Given the description of an element on the screen output the (x, y) to click on. 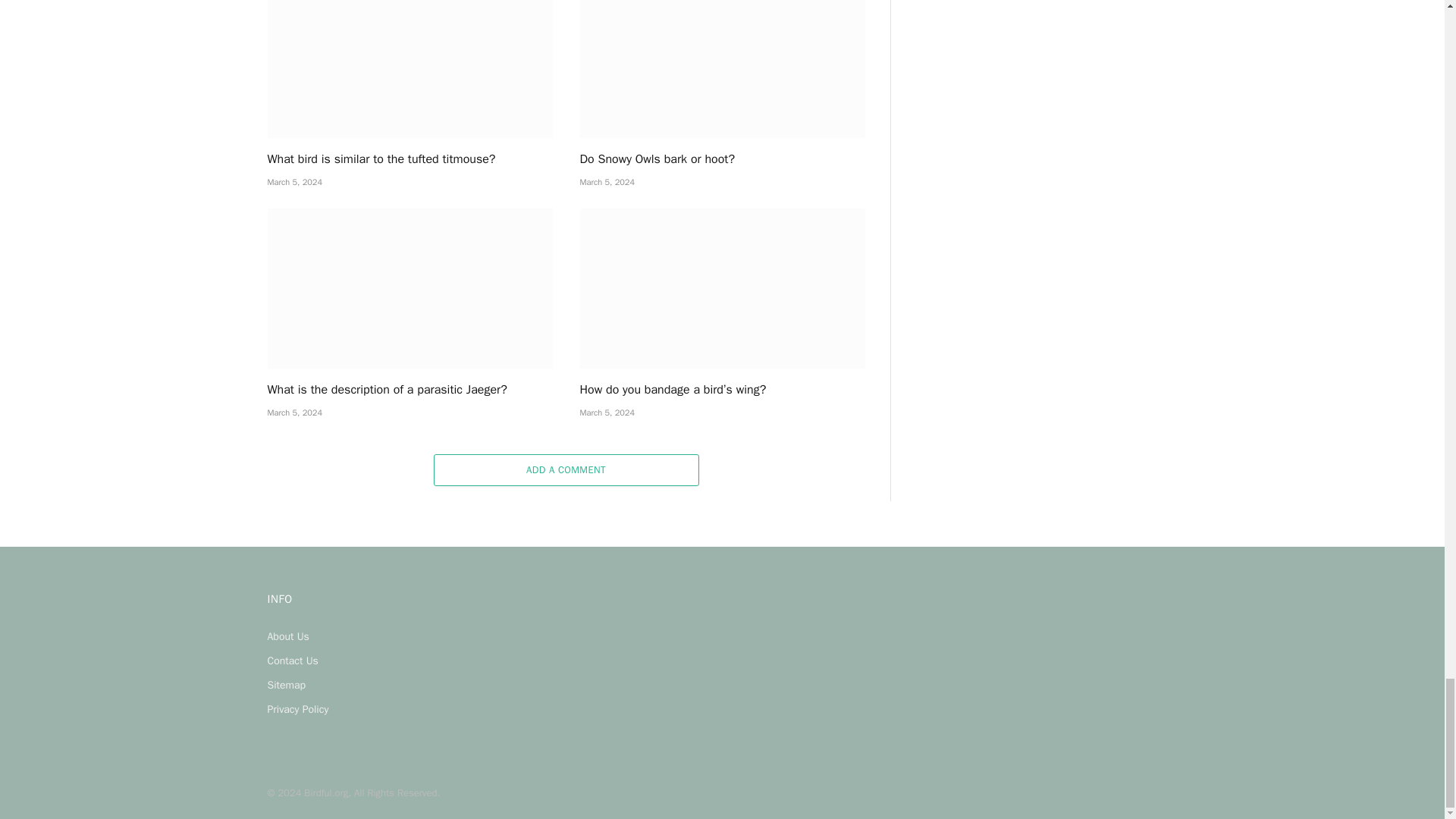
What bird is similar to the tufted titmouse? (408, 158)
Do Snowy Owls bark or hoot? (721, 69)
What is the description of a parasitic Jaeger? (408, 288)
About Us (287, 635)
What bird is similar to the tufted titmouse? (408, 69)
ADD A COMMENT (565, 470)
What is the description of a parasitic Jaeger? (408, 389)
Do Snowy Owls bark or hoot? (721, 158)
